Given the description of an element on the screen output the (x, y) to click on. 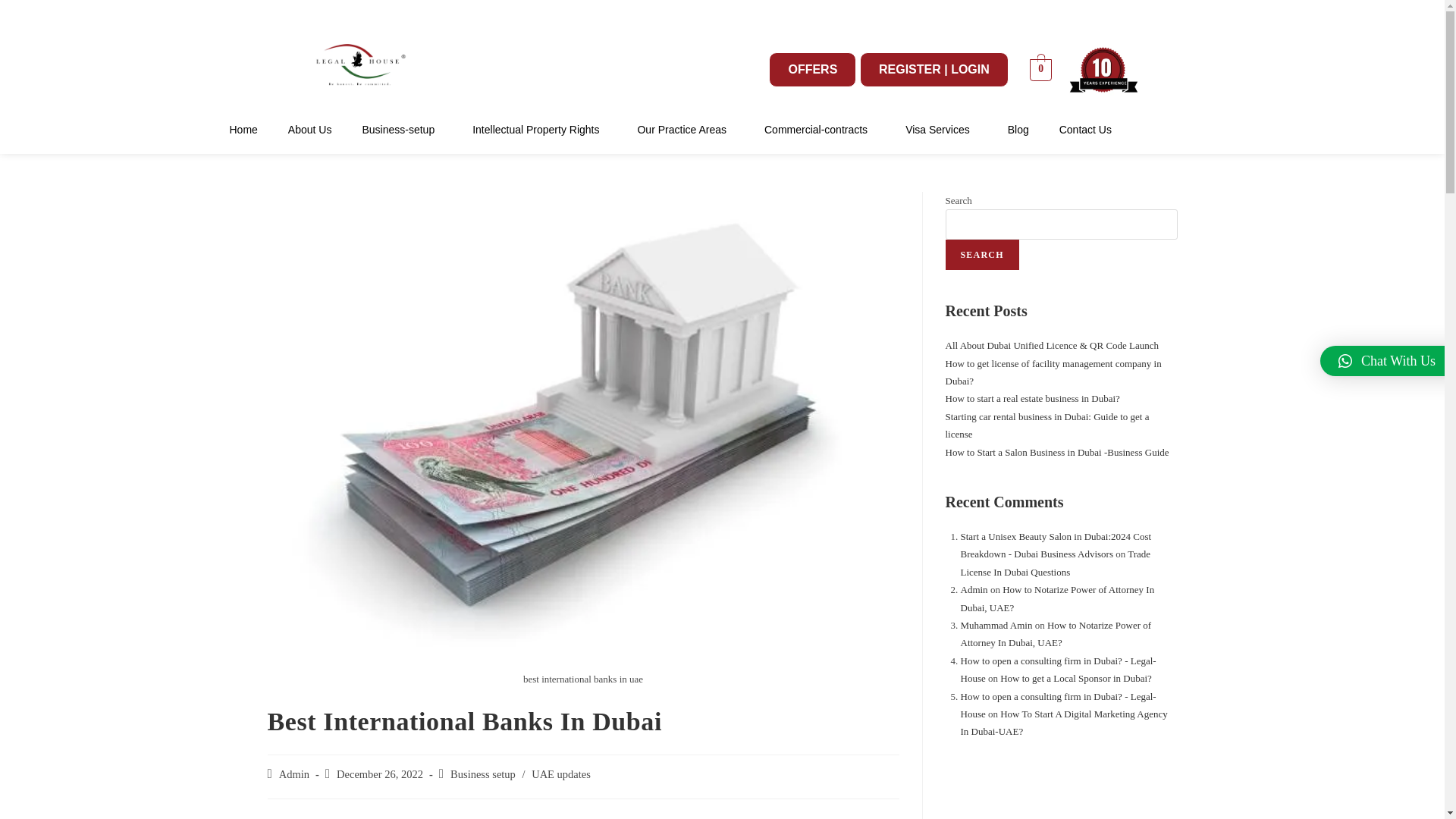
OFFERS (812, 69)
0 (1040, 68)
stamp3 (1104, 69)
Intellectual Property Rights (539, 129)
View your shopping cart (1040, 68)
Posts by Admin (293, 774)
Commercial-contracts (819, 129)
Business-setup (401, 129)
Our Practice Areas (685, 129)
Home (243, 129)
About Us (309, 129)
